Given the description of an element on the screen output the (x, y) to click on. 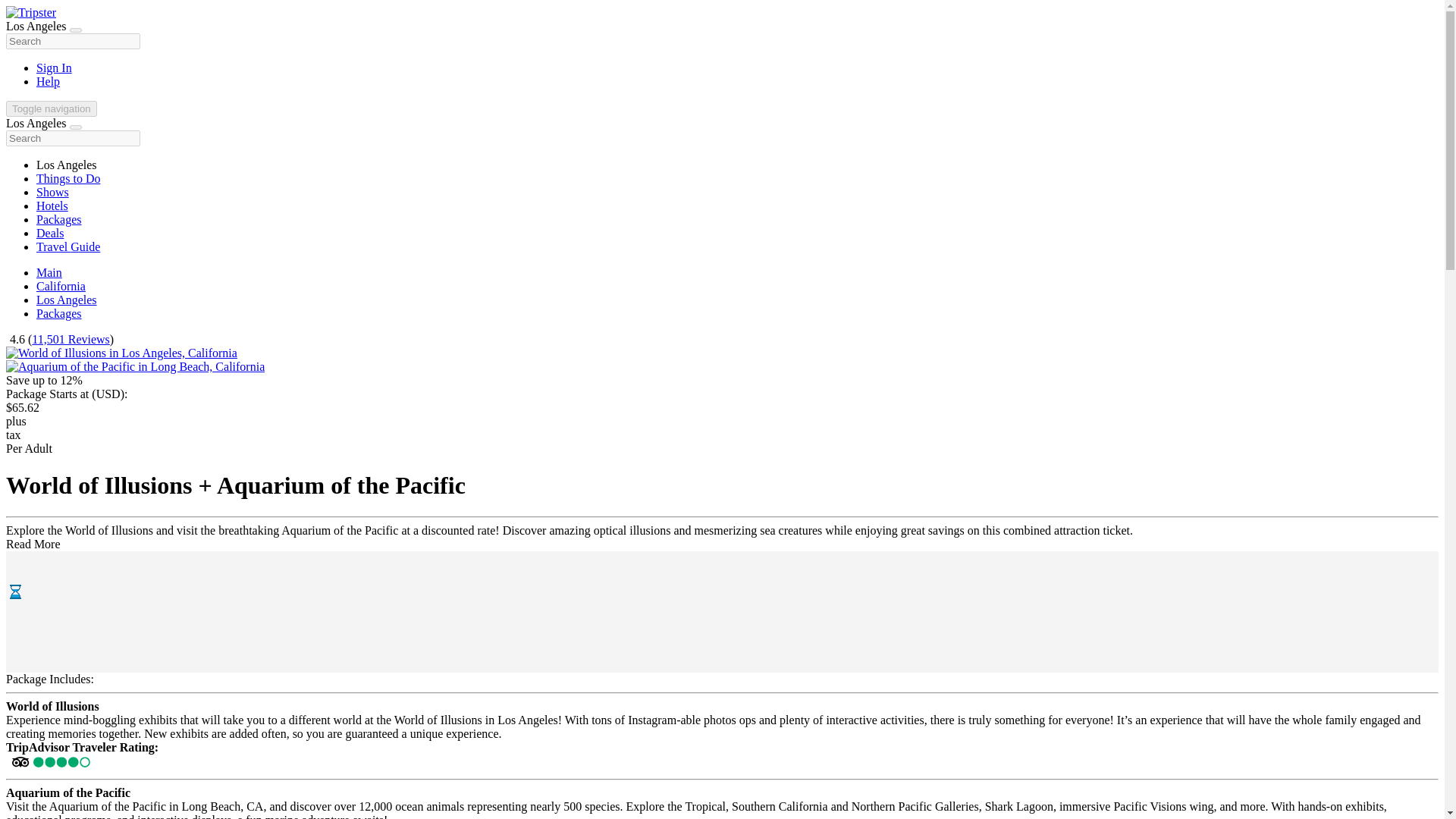
Los Angeles (66, 299)
Main (49, 272)
Los Angeles Packages (58, 313)
Read More (33, 543)
Toggle navigation (51, 108)
Sign In (53, 67)
California (60, 286)
Deals (50, 232)
Help (47, 81)
Shows (52, 192)
Hotels (52, 205)
11,501 Reviews (71, 338)
California (60, 286)
Los Angeles (66, 299)
Packages (58, 313)
